Given the description of an element on the screen output the (x, y) to click on. 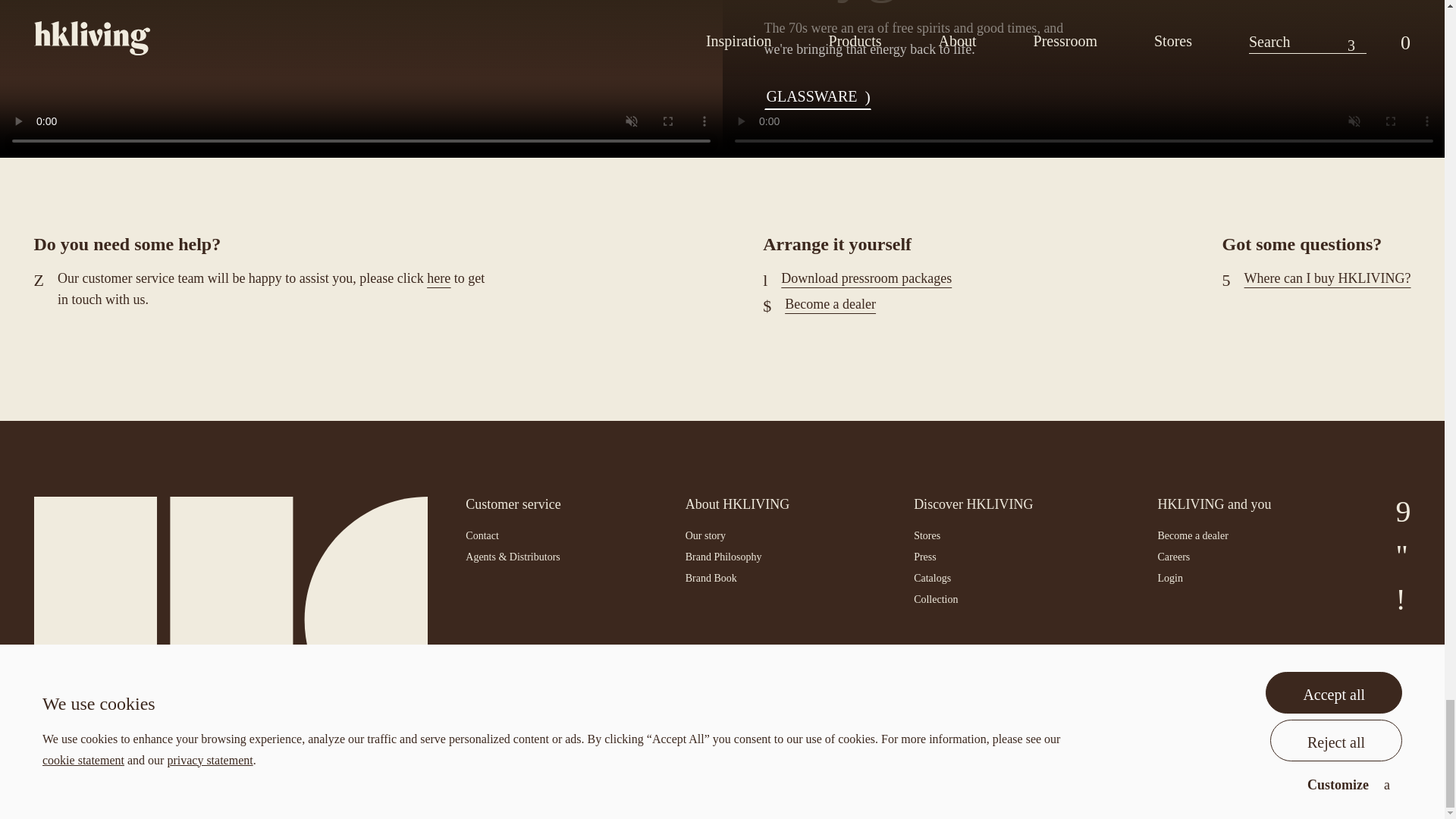
Contact (437, 278)
